Given the description of an element on the screen output the (x, y) to click on. 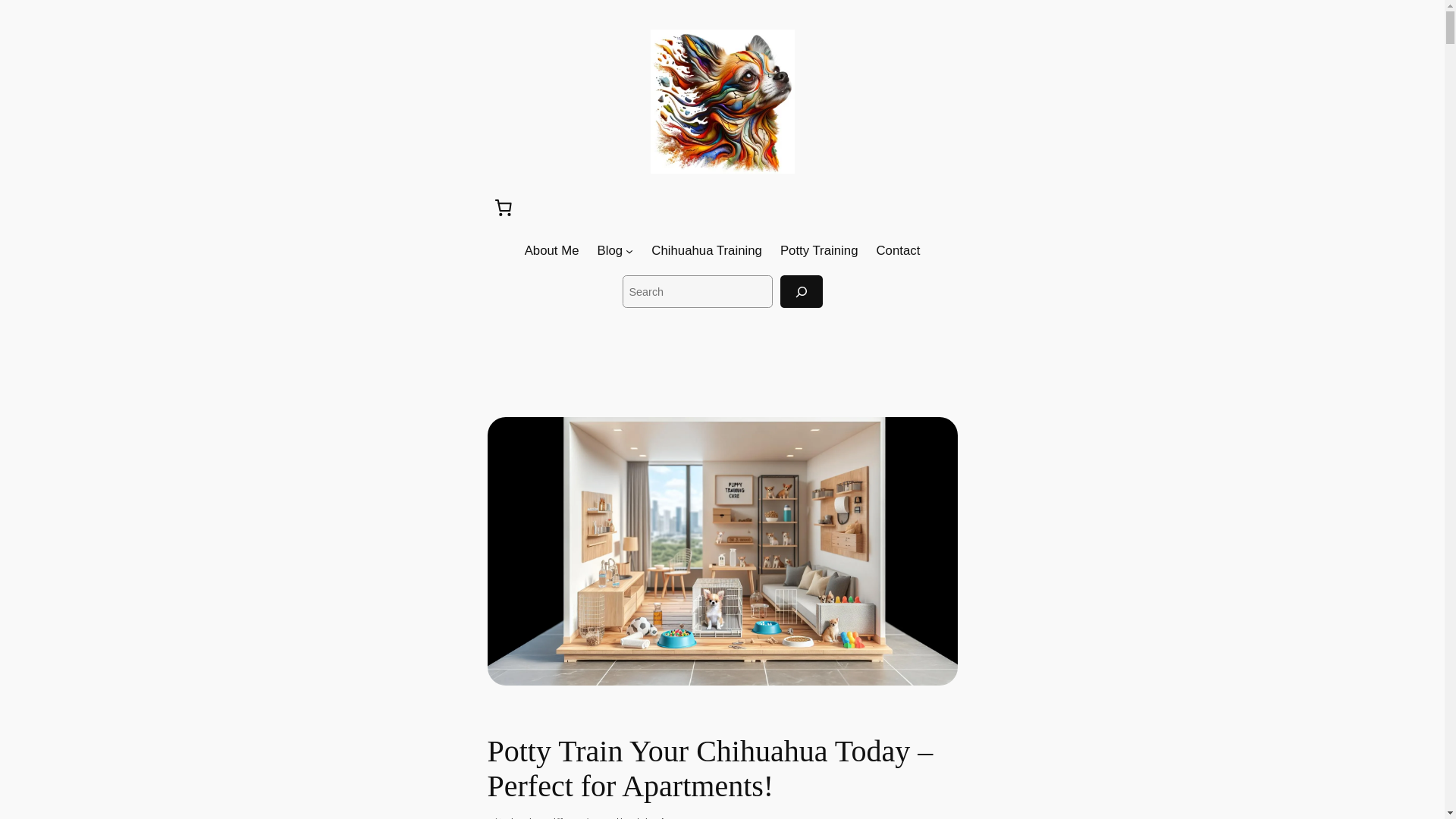
Chihuahua Training (705, 250)
Potty Training (819, 250)
Contact (898, 250)
About Me (551, 250)
Blog (609, 250)
